Given the description of an element on the screen output the (x, y) to click on. 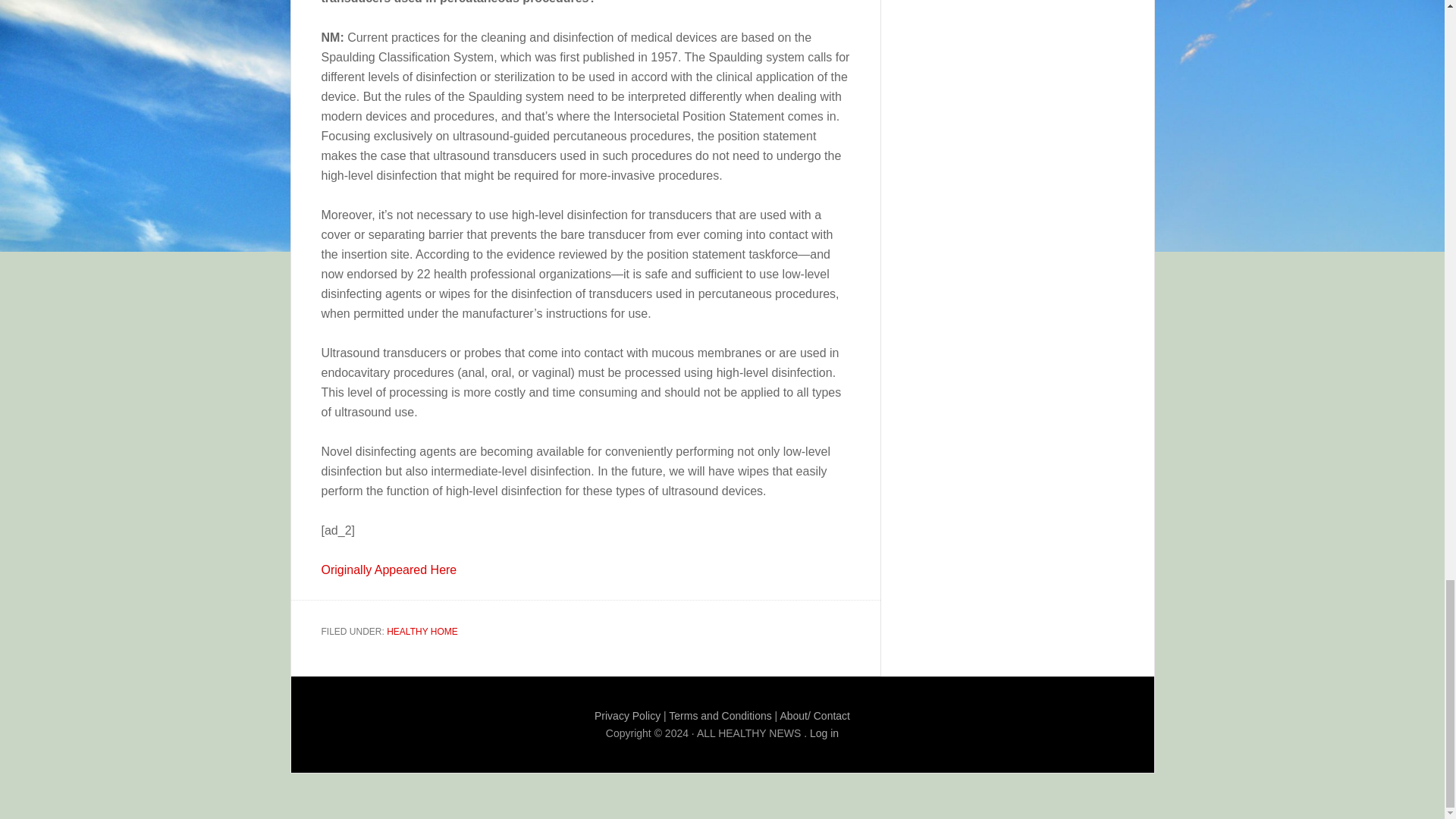
HEALTHY HOME (422, 631)
Privacy Policy (627, 715)
Originally Appeared Here (389, 569)
Terms and Conditions (719, 715)
Log in (823, 733)
